Given the description of an element on the screen output the (x, y) to click on. 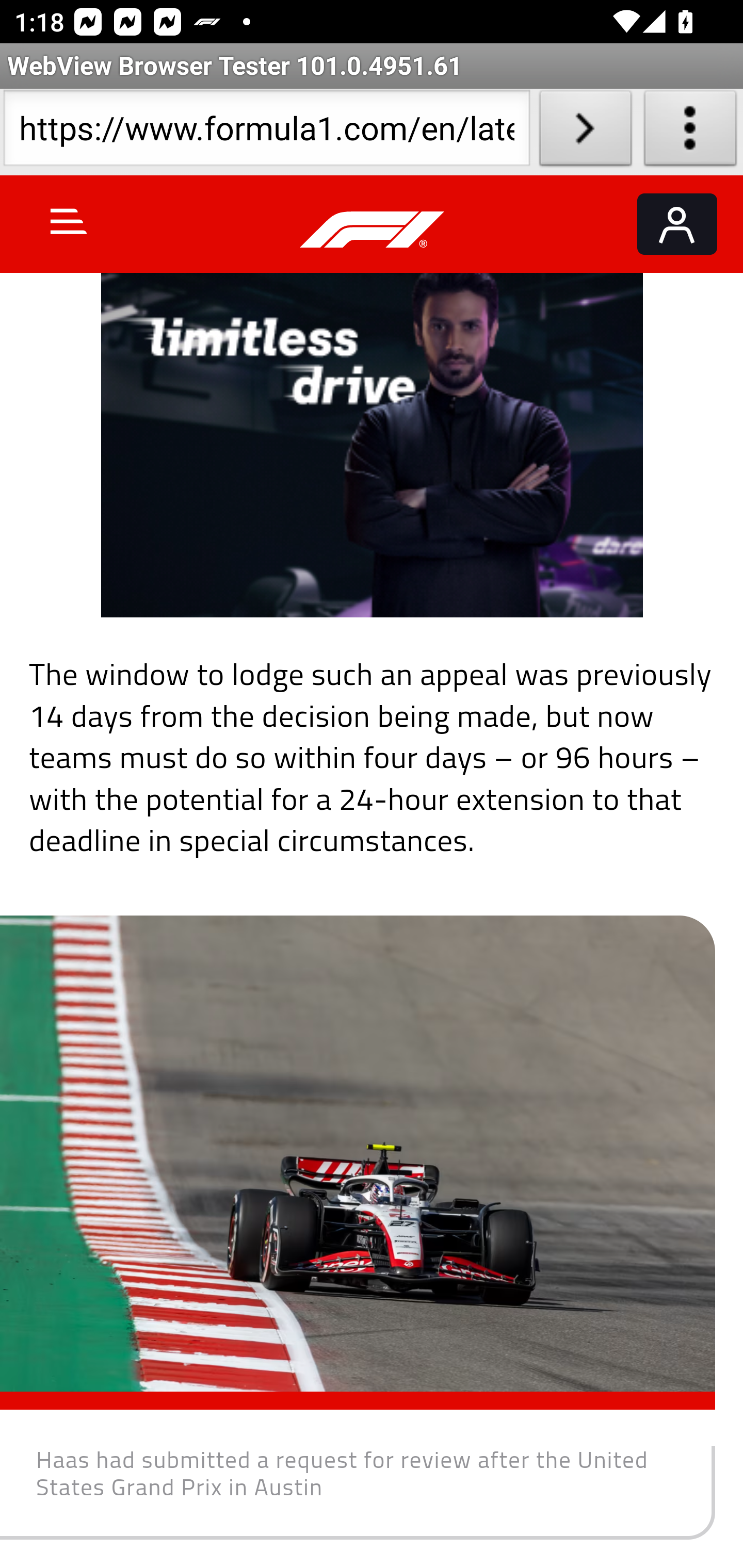
Load URL (585, 132)
About WebView (690, 132)
